Given the description of an element on the screen output the (x, y) to click on. 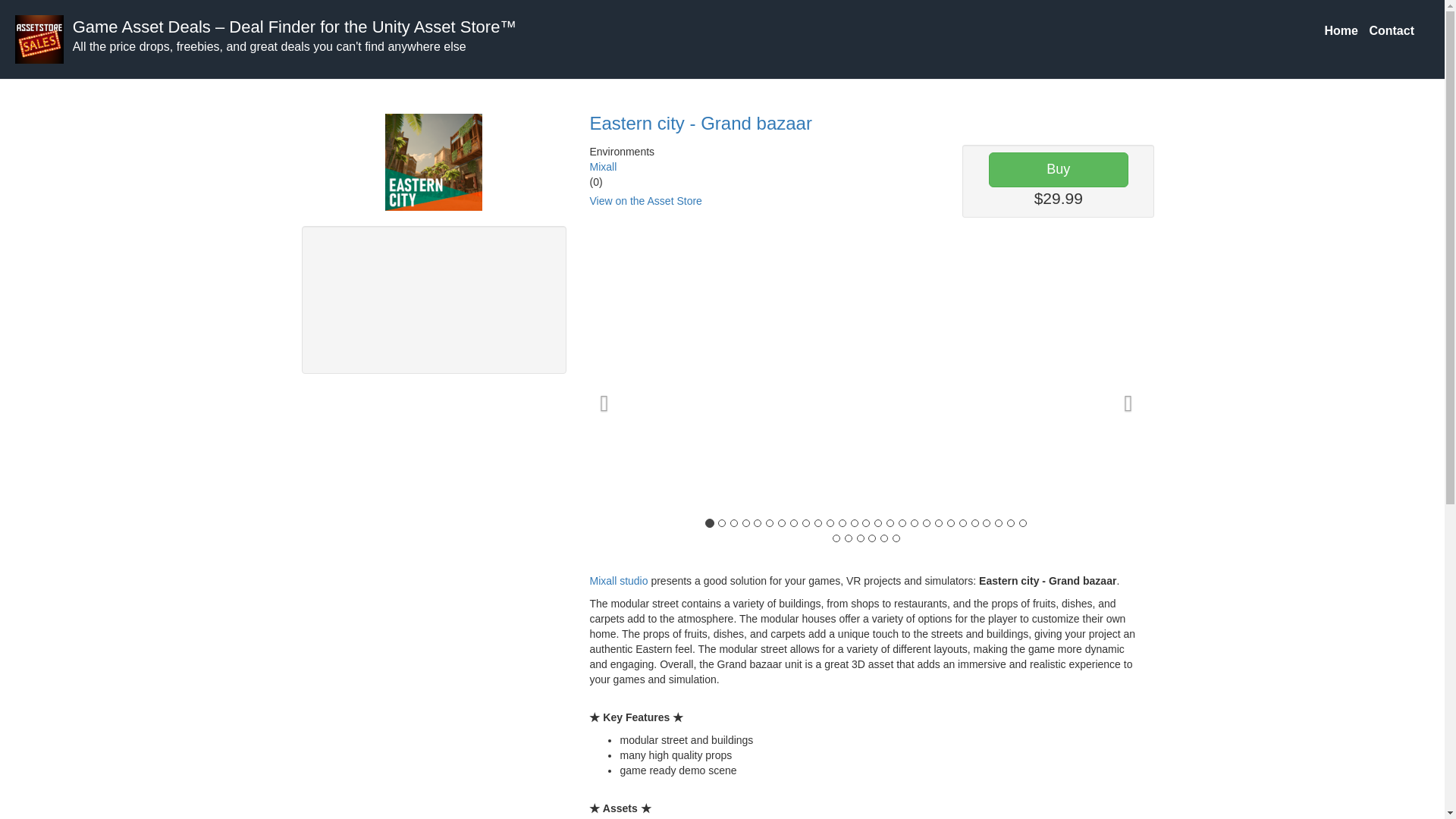
Contact (1390, 30)
Mixall (602, 166)
View on the Asset Store (645, 200)
Home (1341, 30)
Eastern city - Grand bazaar (699, 123)
Game Asset Deals (141, 26)
Buy (1058, 169)
Mixall studio (618, 580)
